Given the description of an element on the screen output the (x, y) to click on. 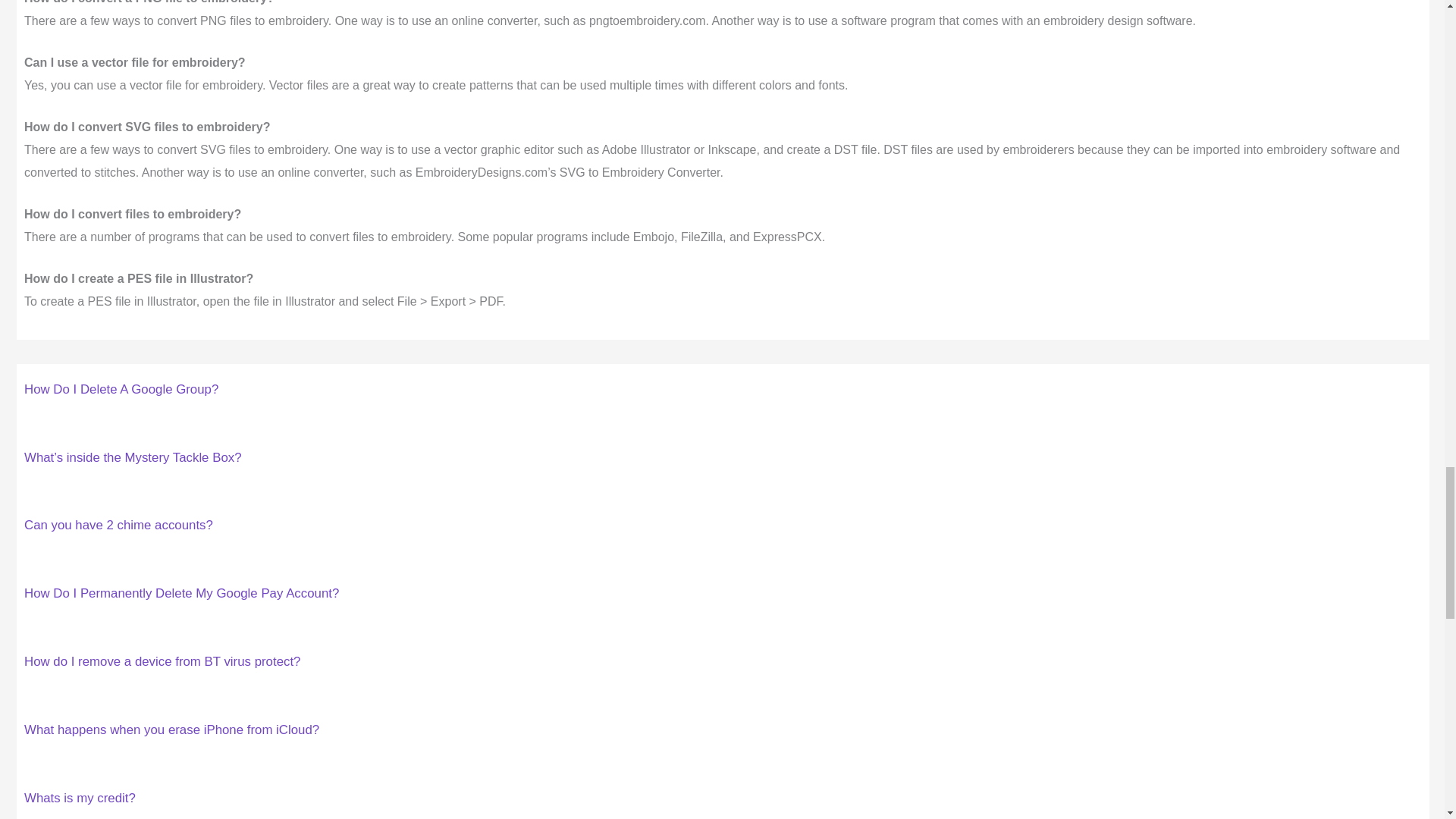
How do I remove a device from BT virus protect? (161, 661)
How Do I Permanently Delete My Google Pay Account? (181, 593)
How Do I Delete A Google Group? (121, 389)
What happens when you erase iPhone from iCloud? (171, 729)
Can you have 2 chime accounts? (118, 524)
Whats is my credit? (79, 798)
